Given the description of an element on the screen output the (x, y) to click on. 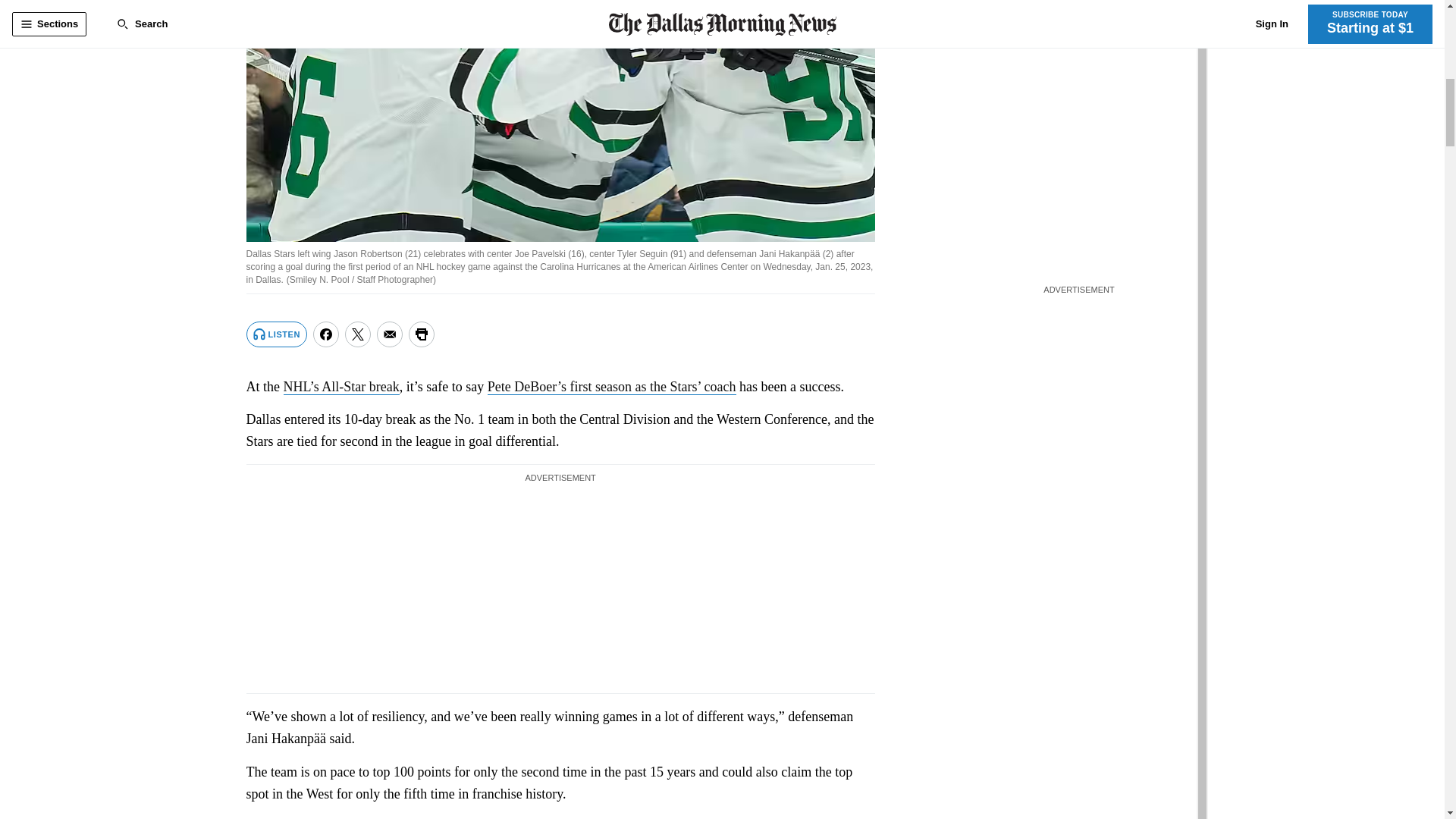
Share on Facebook (326, 334)
Print (421, 334)
Share on Twitter (358, 334)
Share via Email (390, 334)
